Given the description of an element on the screen output the (x, y) to click on. 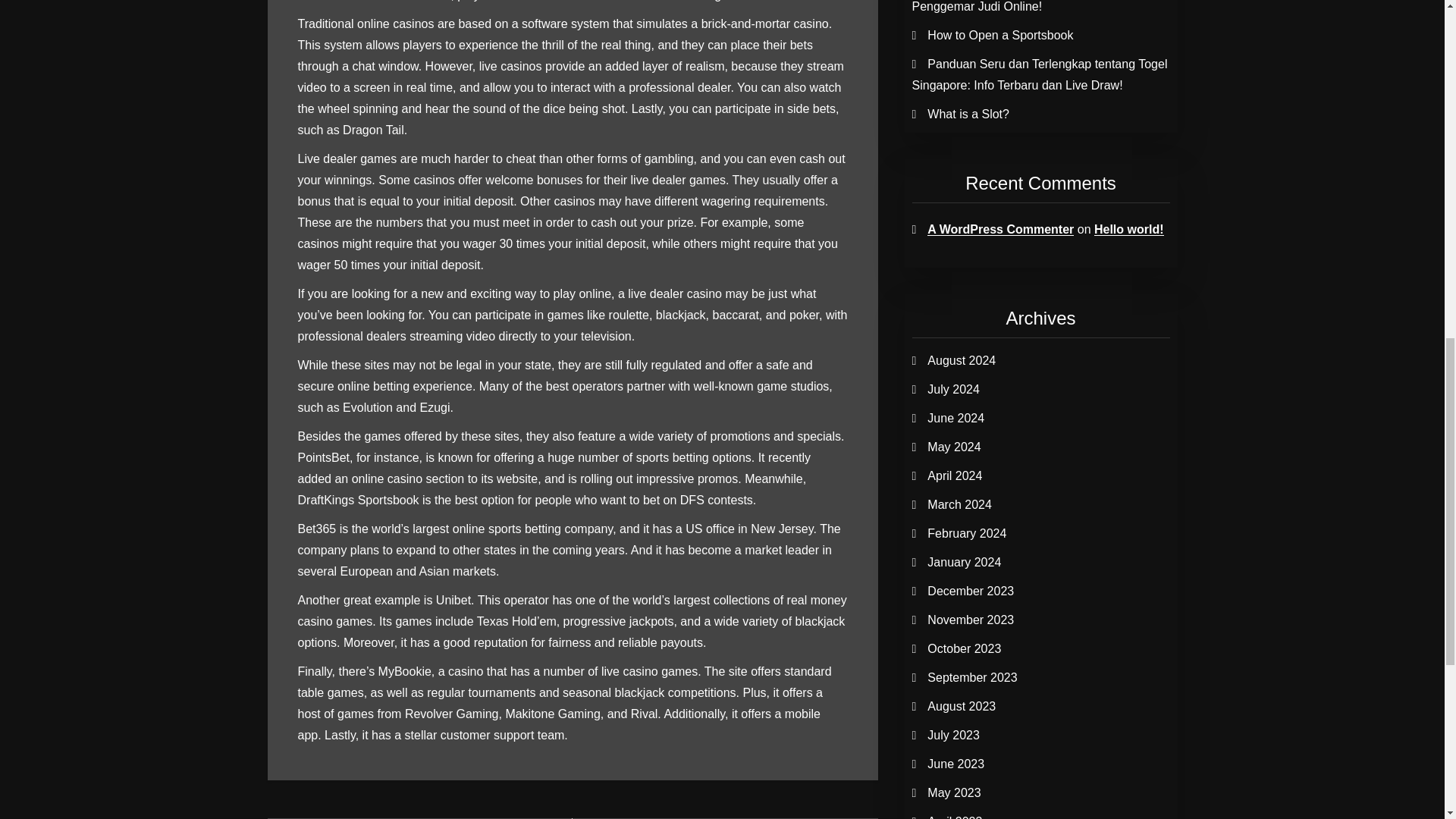
June 2023 (955, 763)
November 2023 (970, 619)
September 2023 (971, 676)
August 2023 (961, 706)
February 2024 (966, 533)
December 2023 (970, 590)
October 2023 (964, 648)
May 2024 (953, 446)
July 2023 (953, 735)
April 2024 (954, 475)
May 2023 (953, 792)
